Given the description of an element on the screen output the (x, y) to click on. 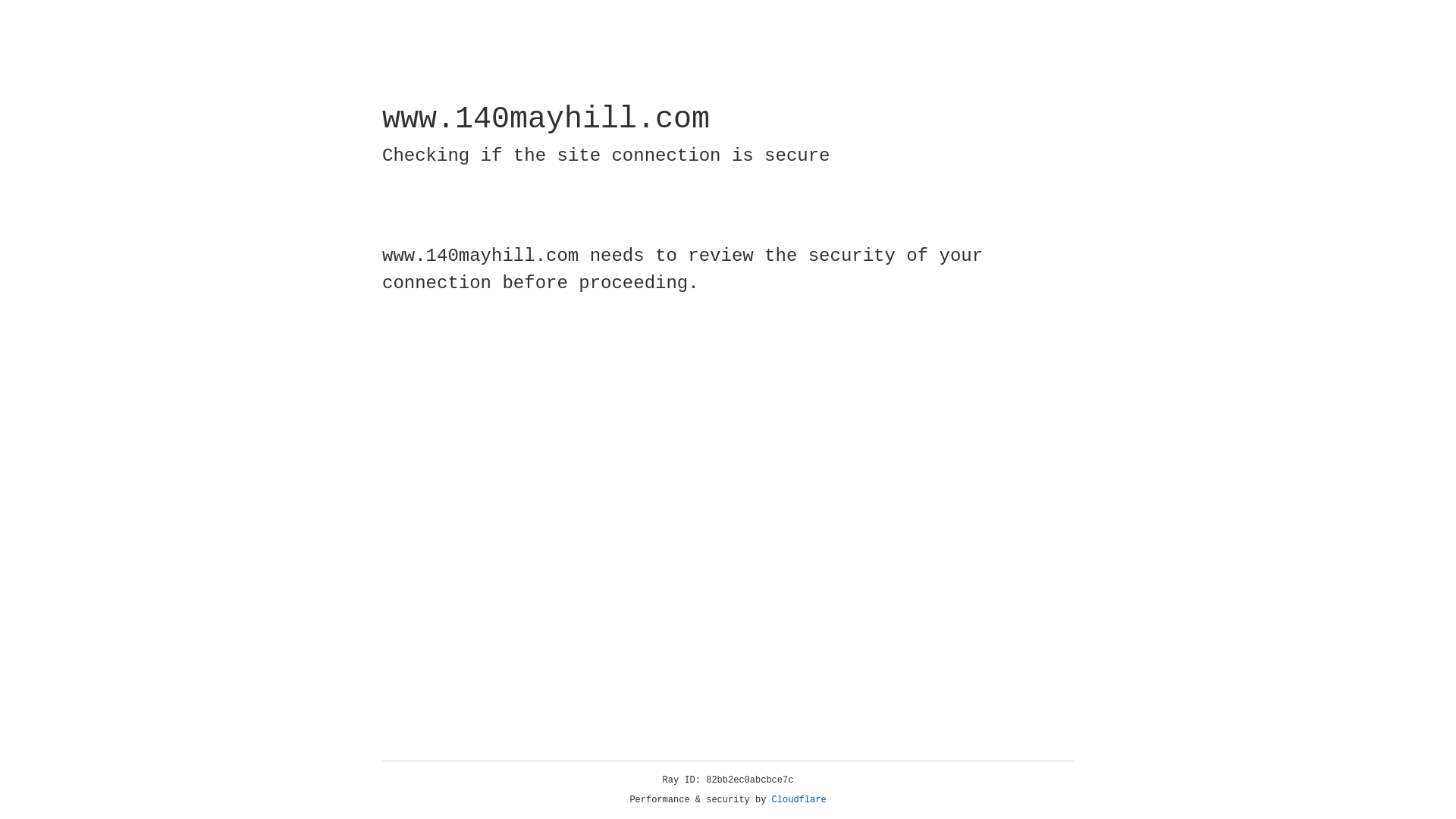
Cloudflare Element type: text (798, 799)
